Given the description of an element on the screen output the (x, y) to click on. 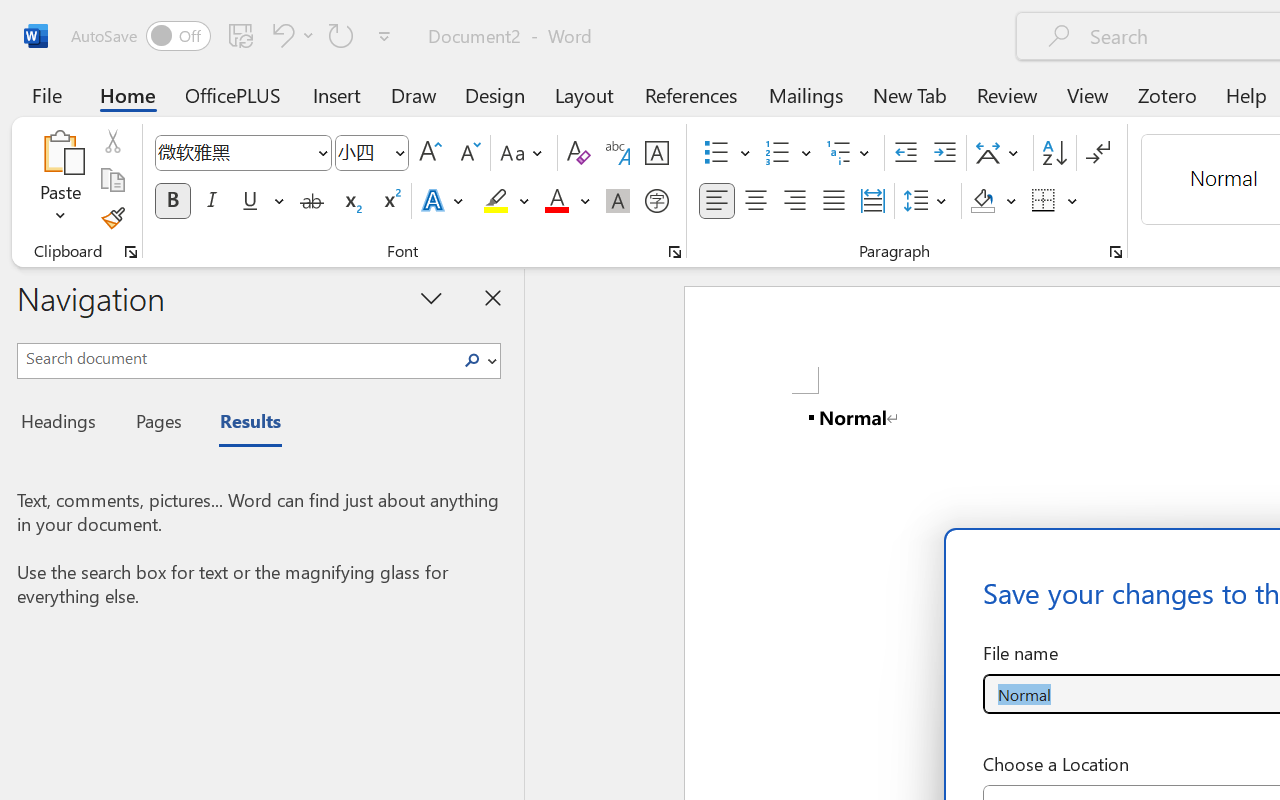
Headings (64, 424)
Font Color Red (556, 201)
Sort... (1054, 153)
Borders (1044, 201)
Paragraph... (1115, 252)
Text Highlight Color Yellow (495, 201)
Bullets (727, 153)
Layout (584, 94)
Search (471, 360)
Align Right (794, 201)
Phonetic Guide... (618, 153)
Design (495, 94)
Format Painter (112, 218)
Italic (212, 201)
Results (240, 424)
